Given the description of an element on the screen output the (x, y) to click on. 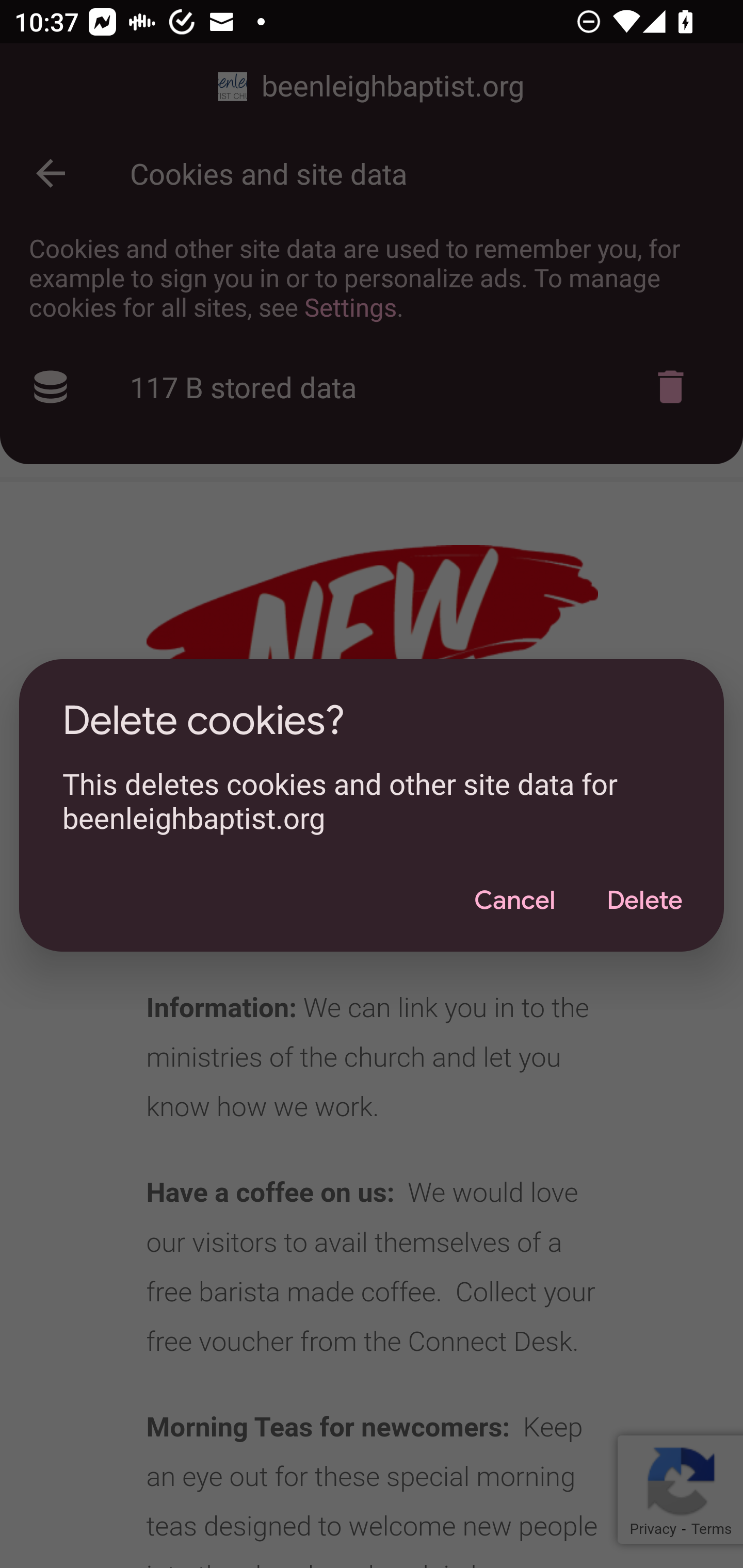
Cancel (514, 900)
Delete (644, 900)
